Given the description of an element on the screen output the (x, y) to click on. 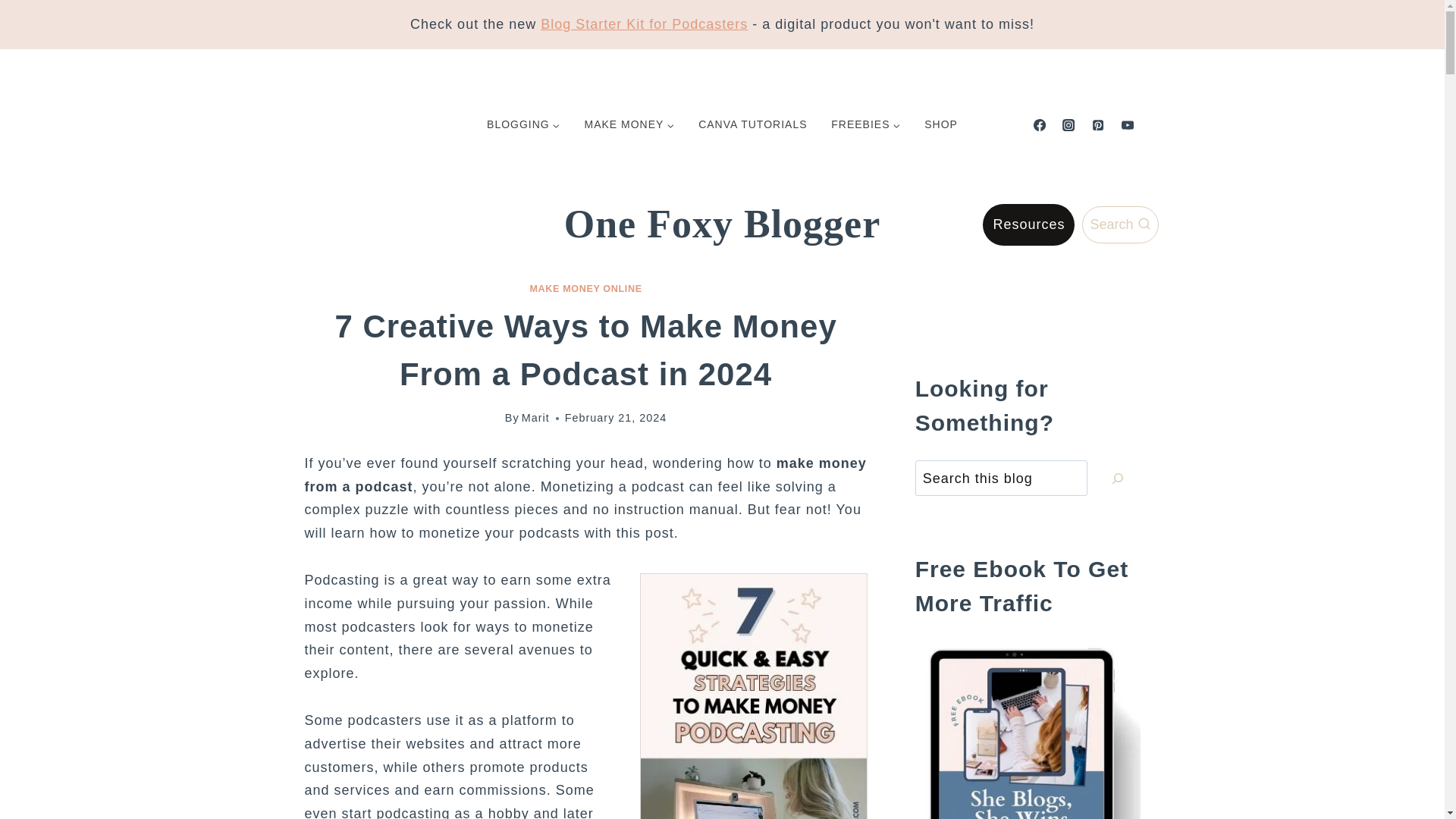
One Foxy Blogger (722, 224)
FREEBIES (865, 124)
Marit (535, 417)
CANVA TUTORIALS (751, 124)
BLOGGING (523, 124)
7 Creative Ways to Make Money From a Podcast in 2024 1 (753, 696)
Blog Starter Kit for Podcasters (644, 23)
MAKE MONEY (629, 124)
Search (1119, 224)
Resources (1028, 224)
SHOP (940, 124)
MAKE MONEY ONLINE (585, 288)
